Given the description of an element on the screen output the (x, y) to click on. 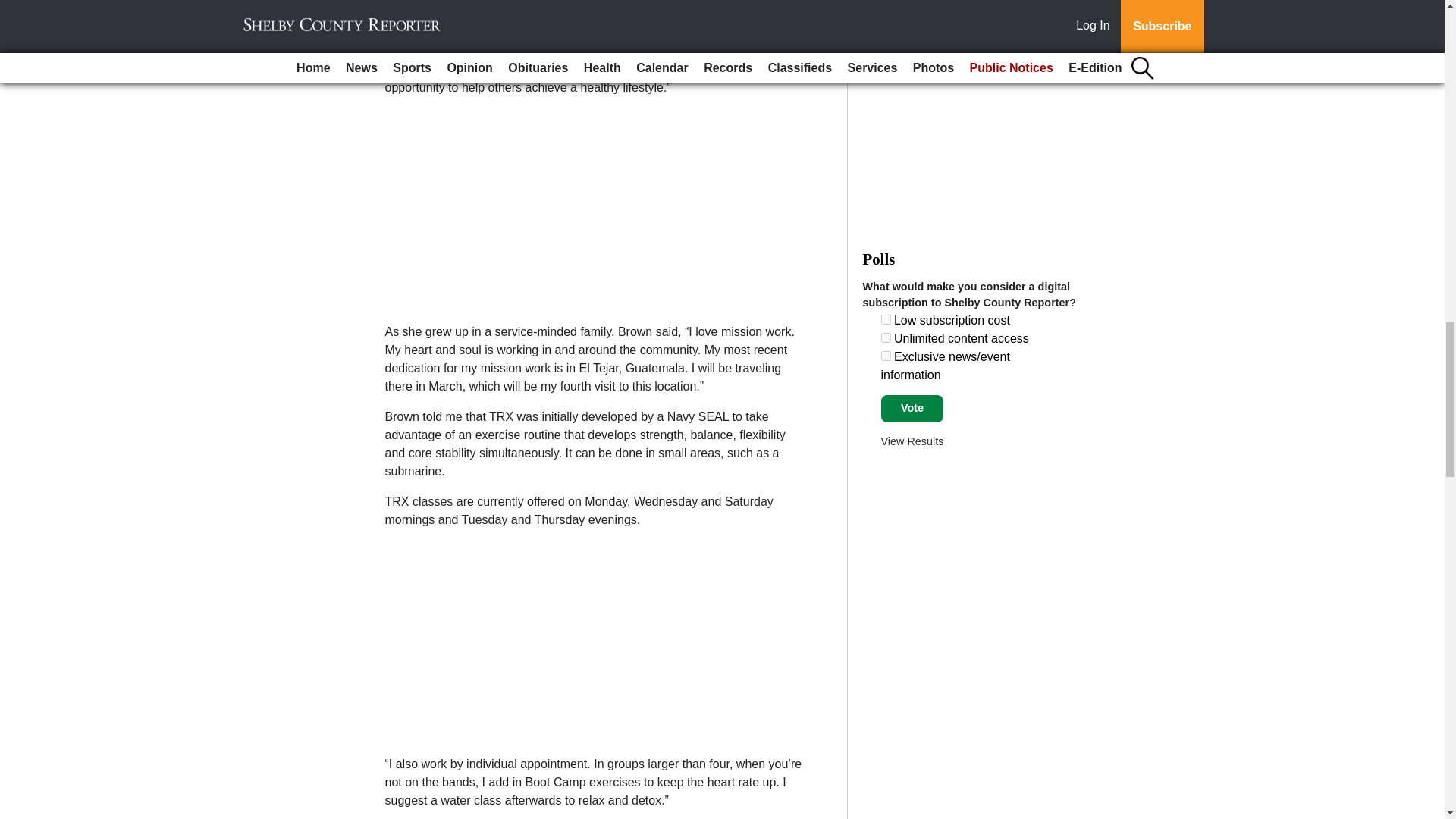
4636 (885, 319)
View Results Of This Poll (911, 440)
4637 (885, 337)
   Vote    (911, 408)
4638 (885, 356)
